Given the description of an element on the screen output the (x, y) to click on. 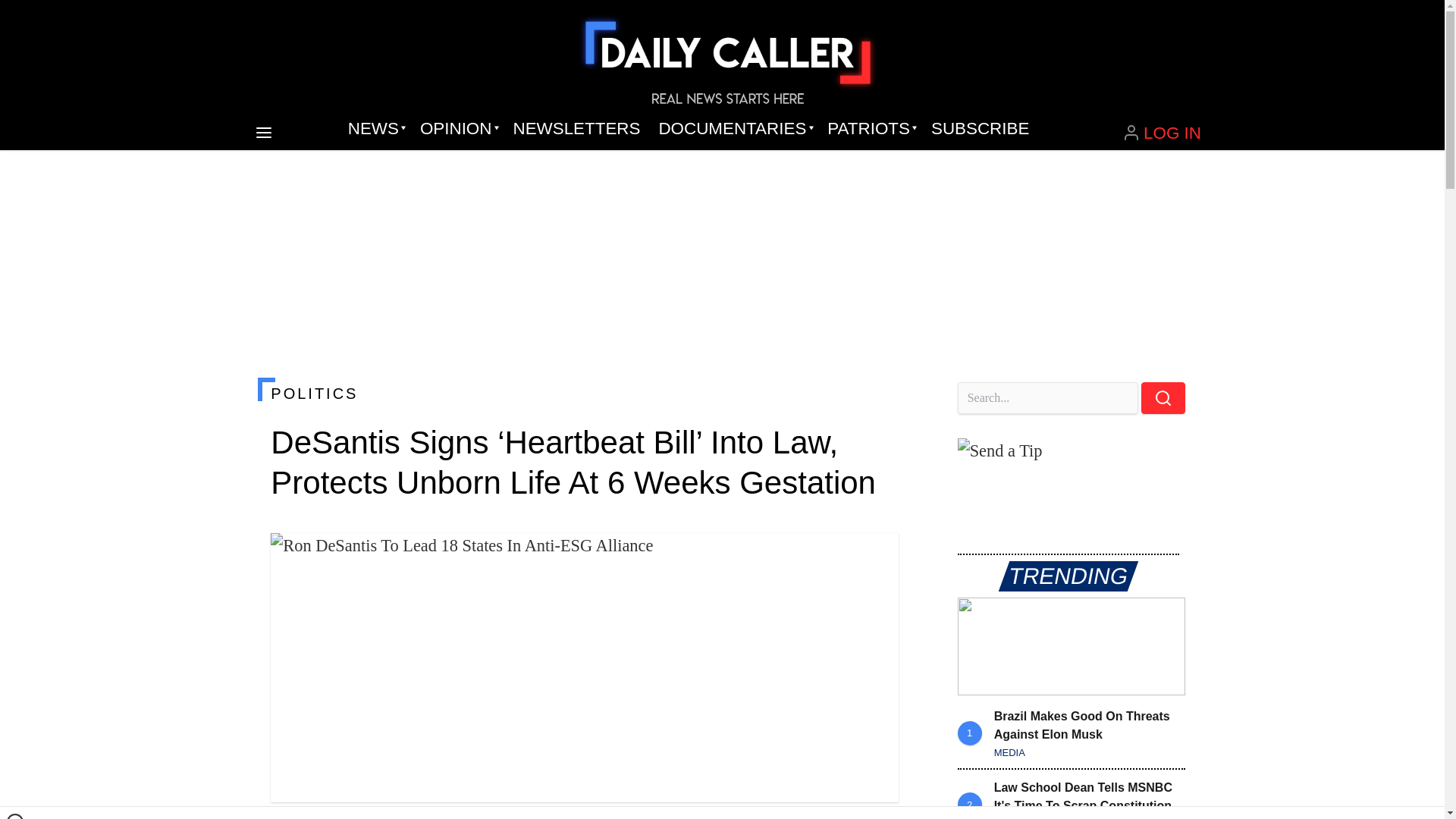
PATRIOTS (869, 128)
Close window (14, 816)
OPINION (456, 128)
DOCUMENTARIES (733, 128)
SUBSCRIBE (979, 128)
NEWSLETTERS (576, 128)
Toggle fullscreen (874, 556)
Brazil Makes Good On Threats Against Elon Musk (1071, 646)
NEWS (374, 128)
